Given the description of an element on the screen output the (x, y) to click on. 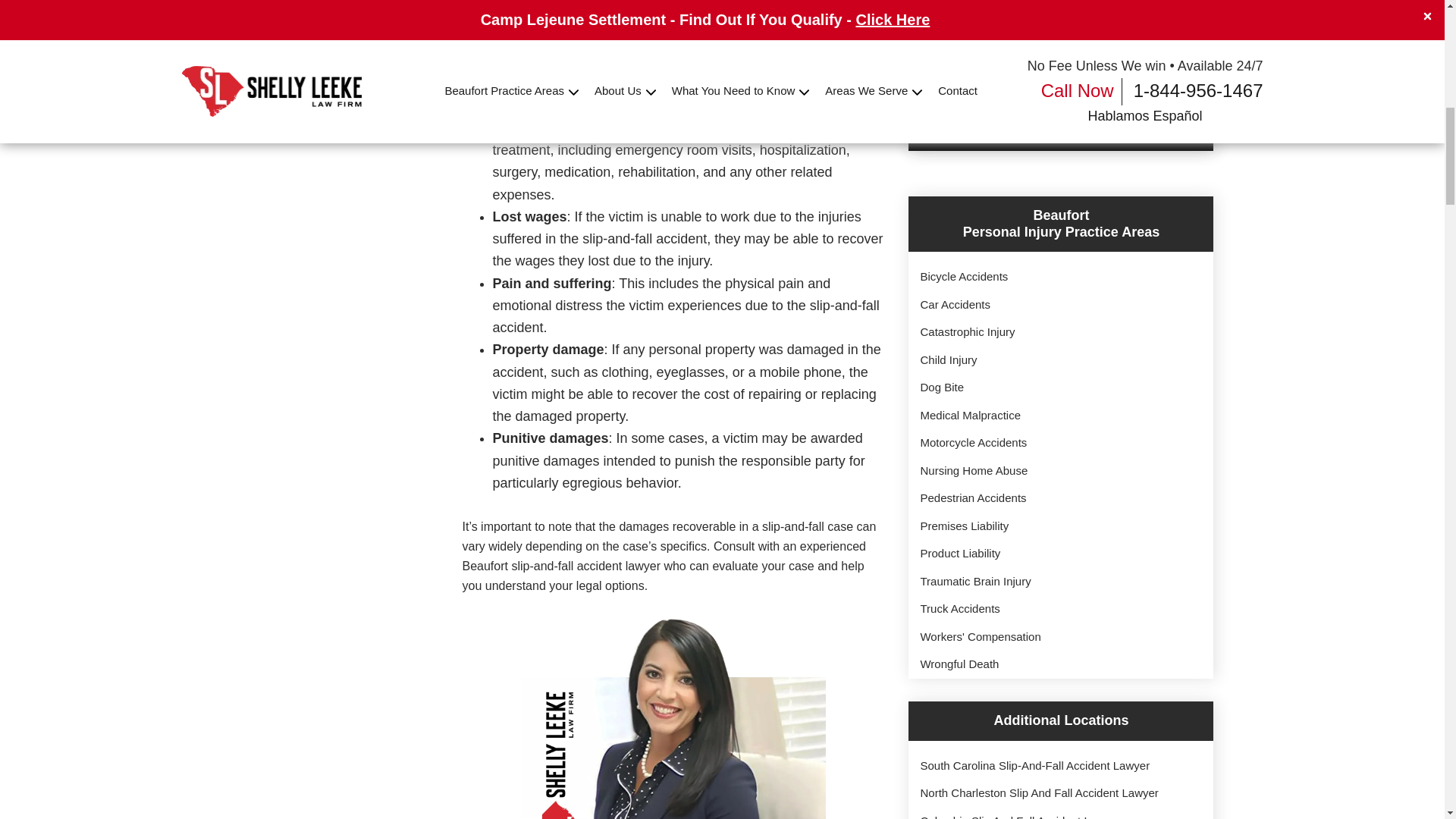
Send (1061, 103)
